Given the description of an element on the screen output the (x, y) to click on. 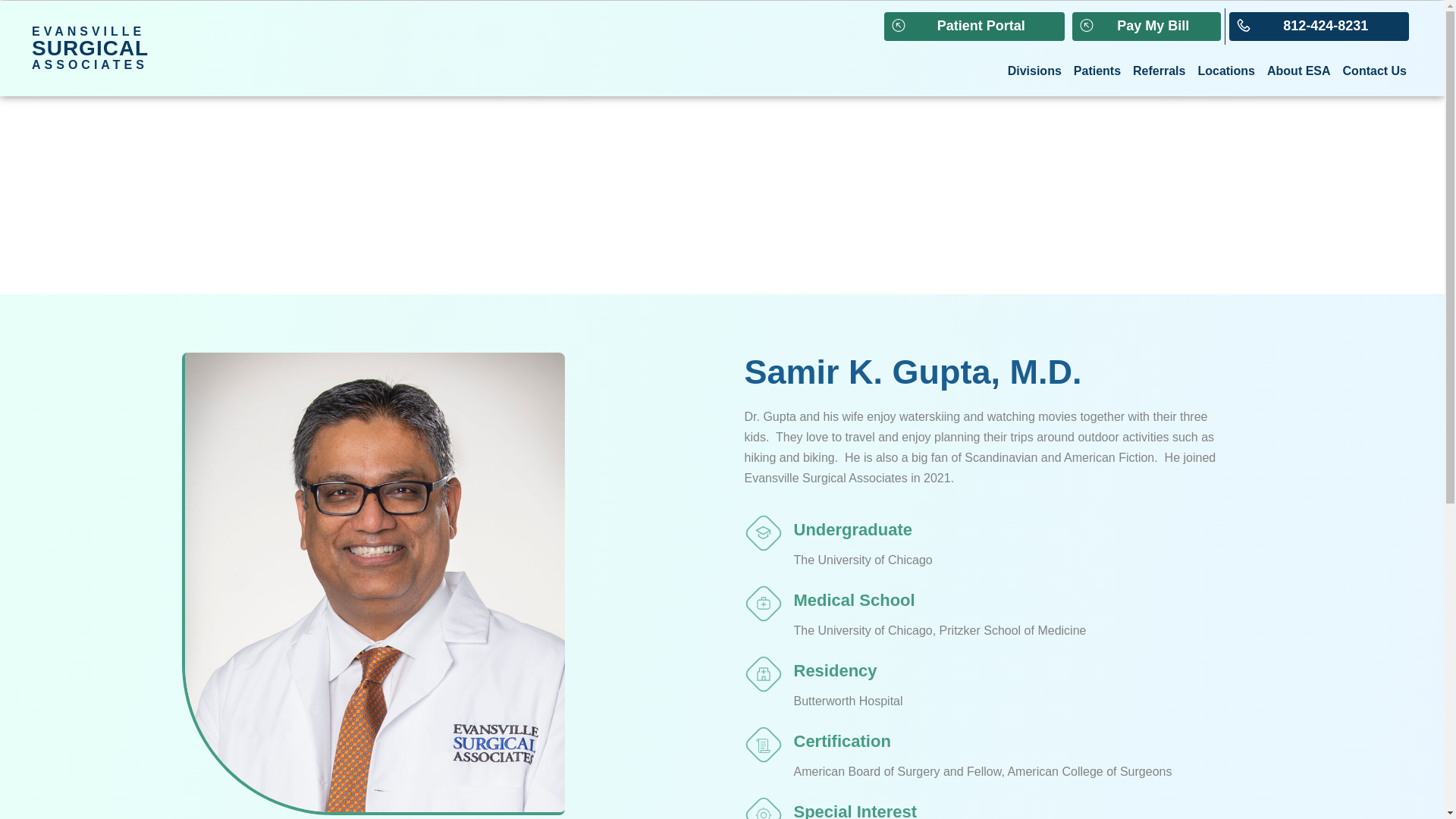
Pay My Bill (1146, 26)
Contact Us (1374, 71)
Patients (90, 48)
Locations (1096, 71)
Referrals (1225, 71)
812-424-8231 (1158, 71)
Divisions (1318, 26)
Patient Portal (1034, 71)
About ESA (973, 26)
